Given the description of an element on the screen output the (x, y) to click on. 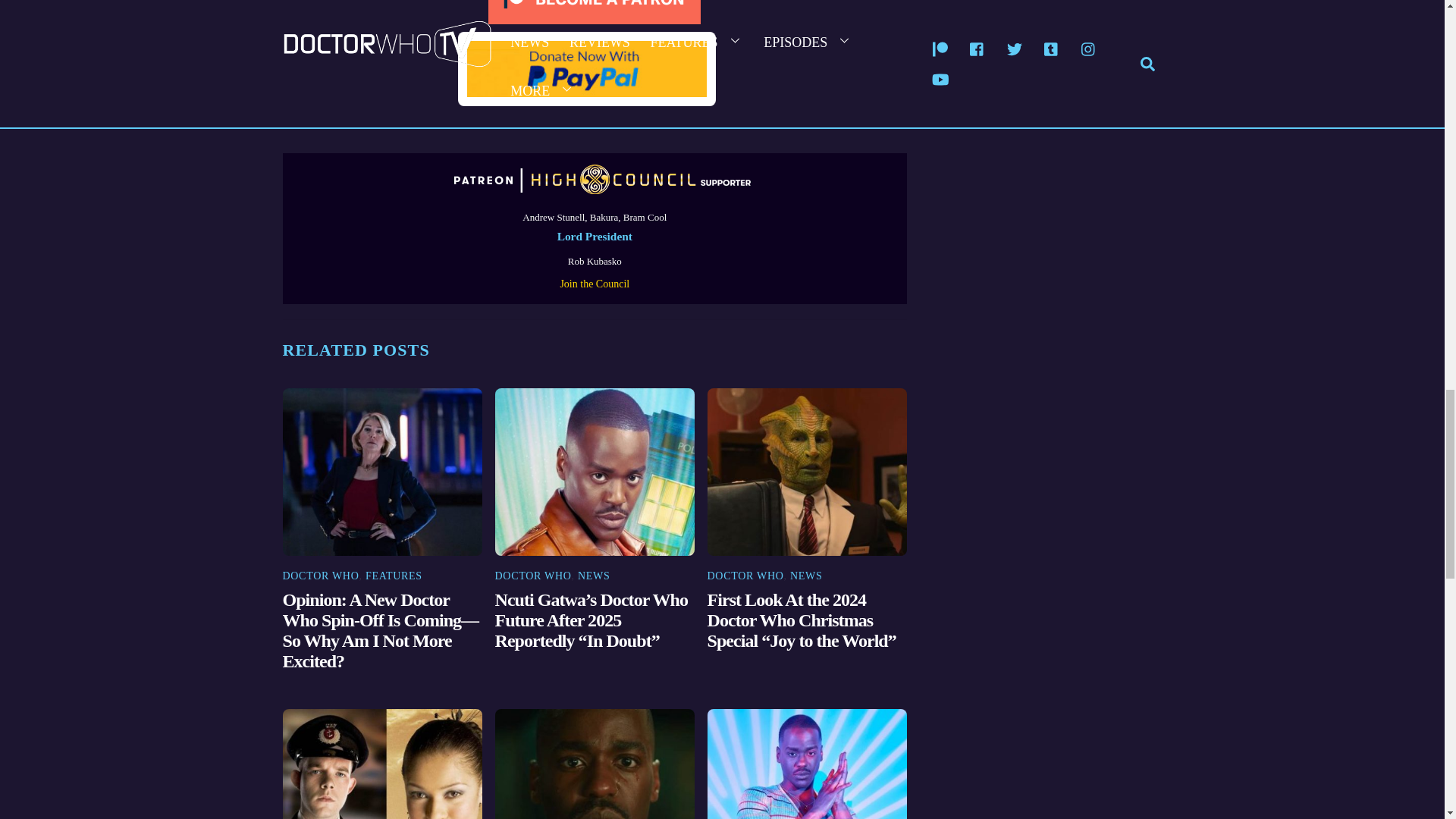
gatwa-crying-dot-and-bubble (595, 764)
doctor-who-christmas-special-2024-monster-joy (807, 472)
legend of ruby sunday 4 (381, 472)
gatwa-2023-promo-15th-tardis (595, 472)
gatwa-doctor-pose-series-14 (807, 764)
russell-tovey-gugu-mbatha-raw-doctor-who (381, 764)
